Given the description of an element on the screen output the (x, y) to click on. 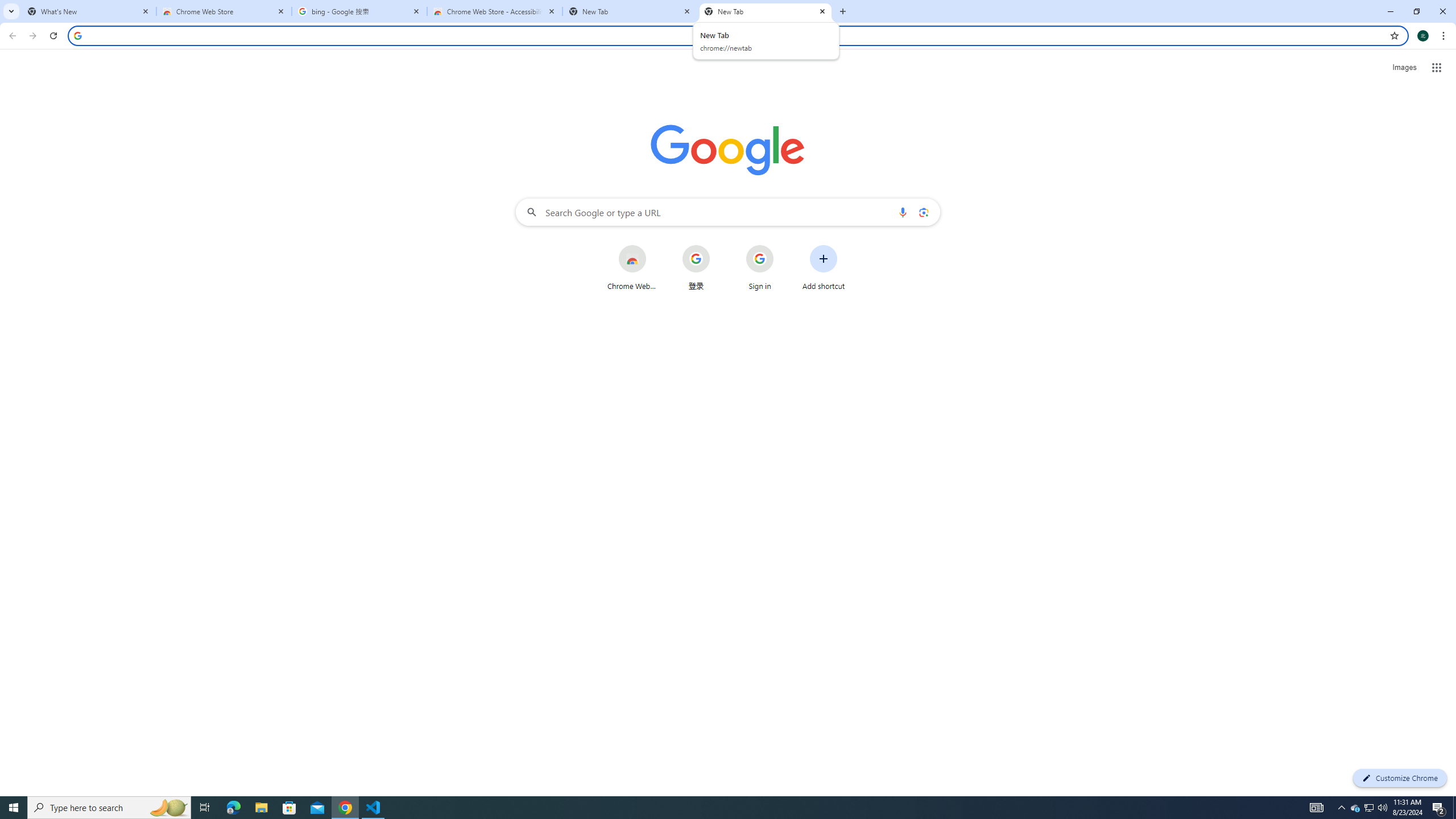
More actions for Chrome Web Store shortcut (654, 245)
Search by voice (902, 212)
Customize Chrome (1399, 778)
What's New (88, 11)
Google apps (1436, 67)
More actions for Sign in shortcut (782, 245)
Search Google or type a URL (727, 212)
Add shortcut (824, 267)
Chrome Web Store (224, 11)
New Tab (765, 11)
